Given the description of an element on the screen output the (x, y) to click on. 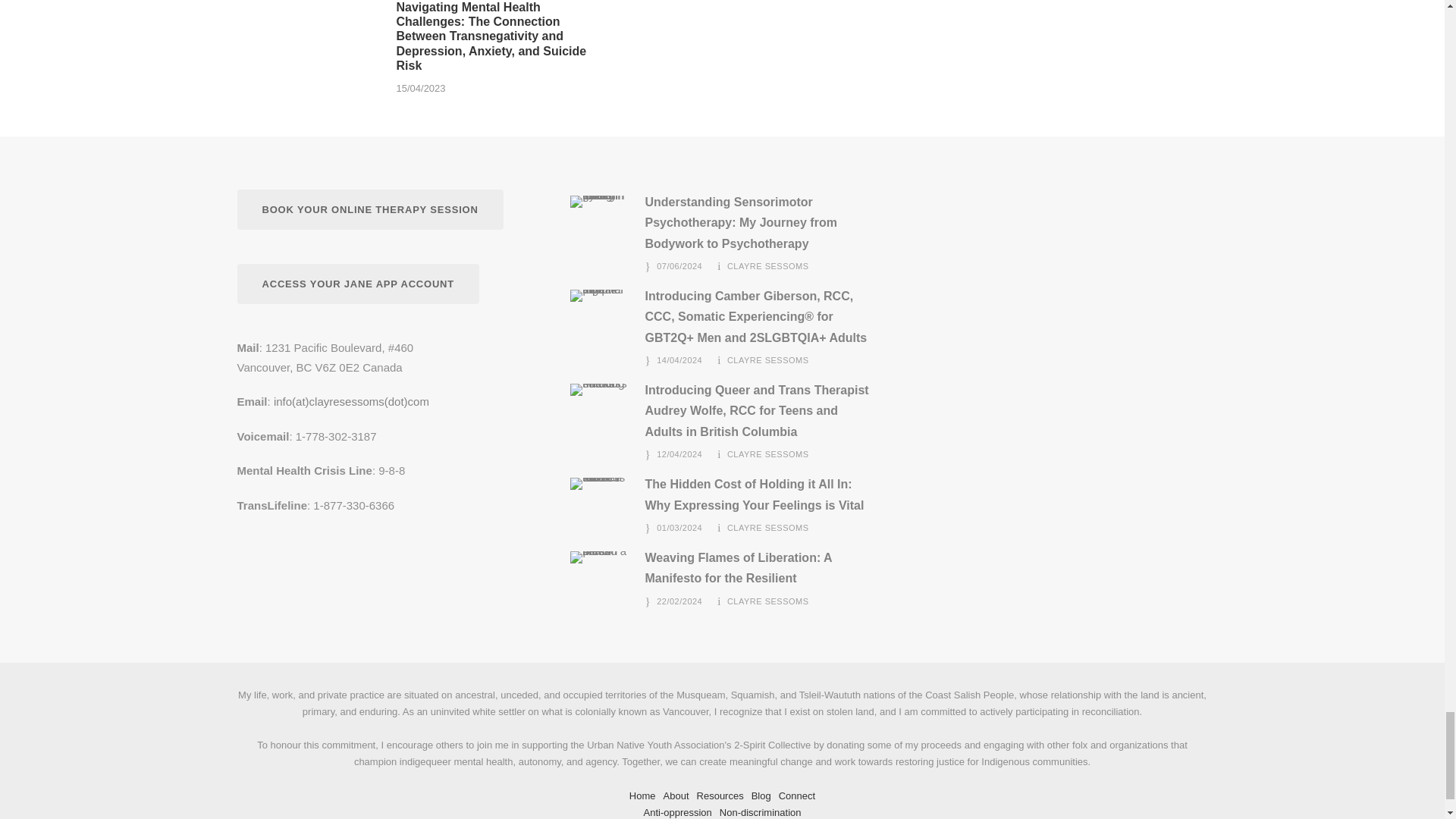
ACCESS YOUR JANE APP ACCOUNT (357, 283)
Posts by Clayre Sessoms (767, 453)
Posts by Clayre Sessoms (767, 601)
CLAYRE SESSOMS (767, 266)
Posts by Clayre Sessoms (767, 527)
Posts by Clayre Sessoms (767, 266)
BOOK YOUR ONLINE THERAPY SESSION (368, 209)
Posts by Clayre Sessoms (767, 359)
